Given the description of an element on the screen output the (x, y) to click on. 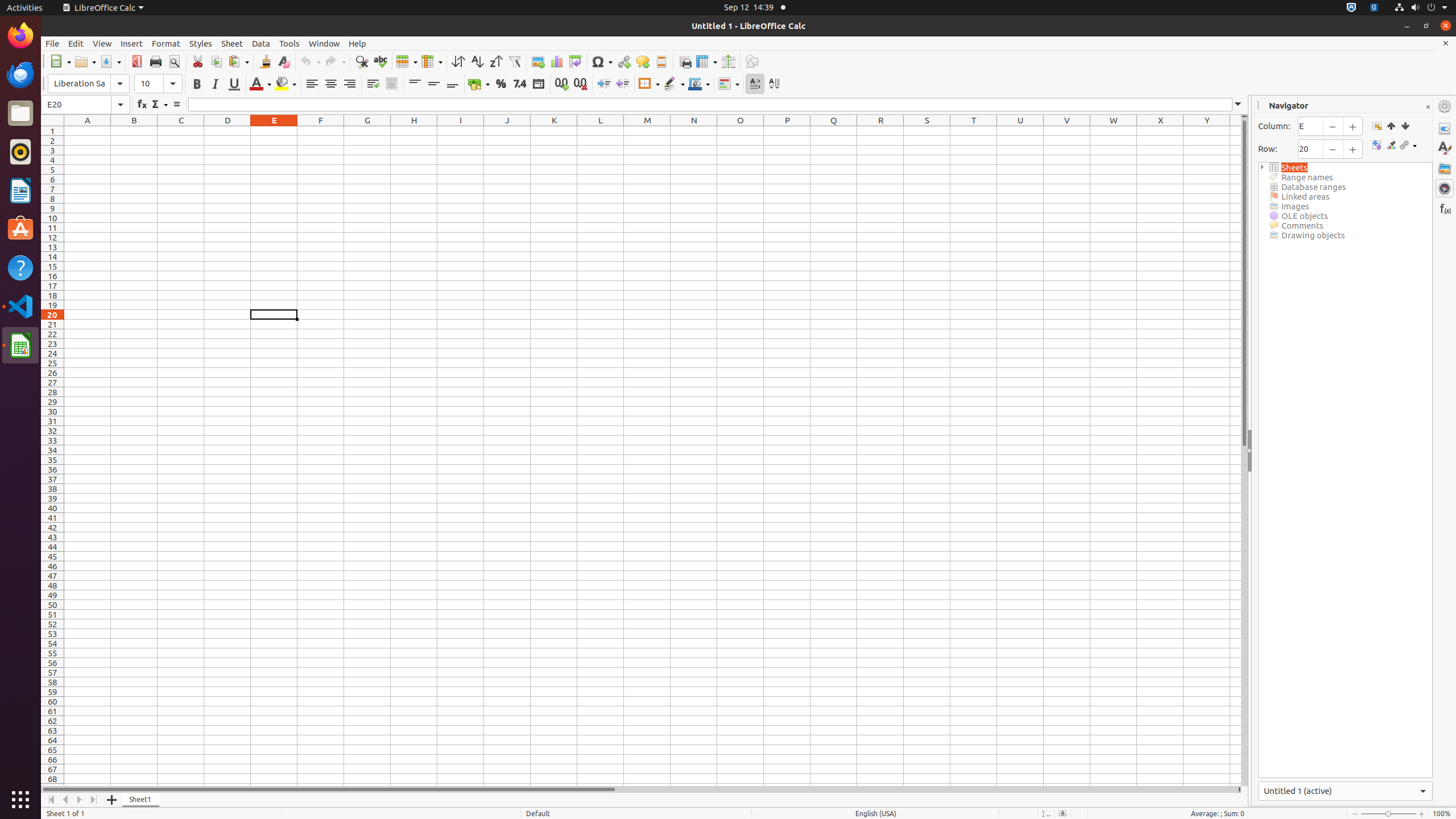
L1 Element type: table-cell (600, 130)
Comment Element type: push-button (642, 61)
Find & Replace Element type: toggle-button (361, 61)
Copy Element type: push-button (216, 61)
Window Element type: menu (324, 43)
